Given the description of an element on the screen output the (x, y) to click on. 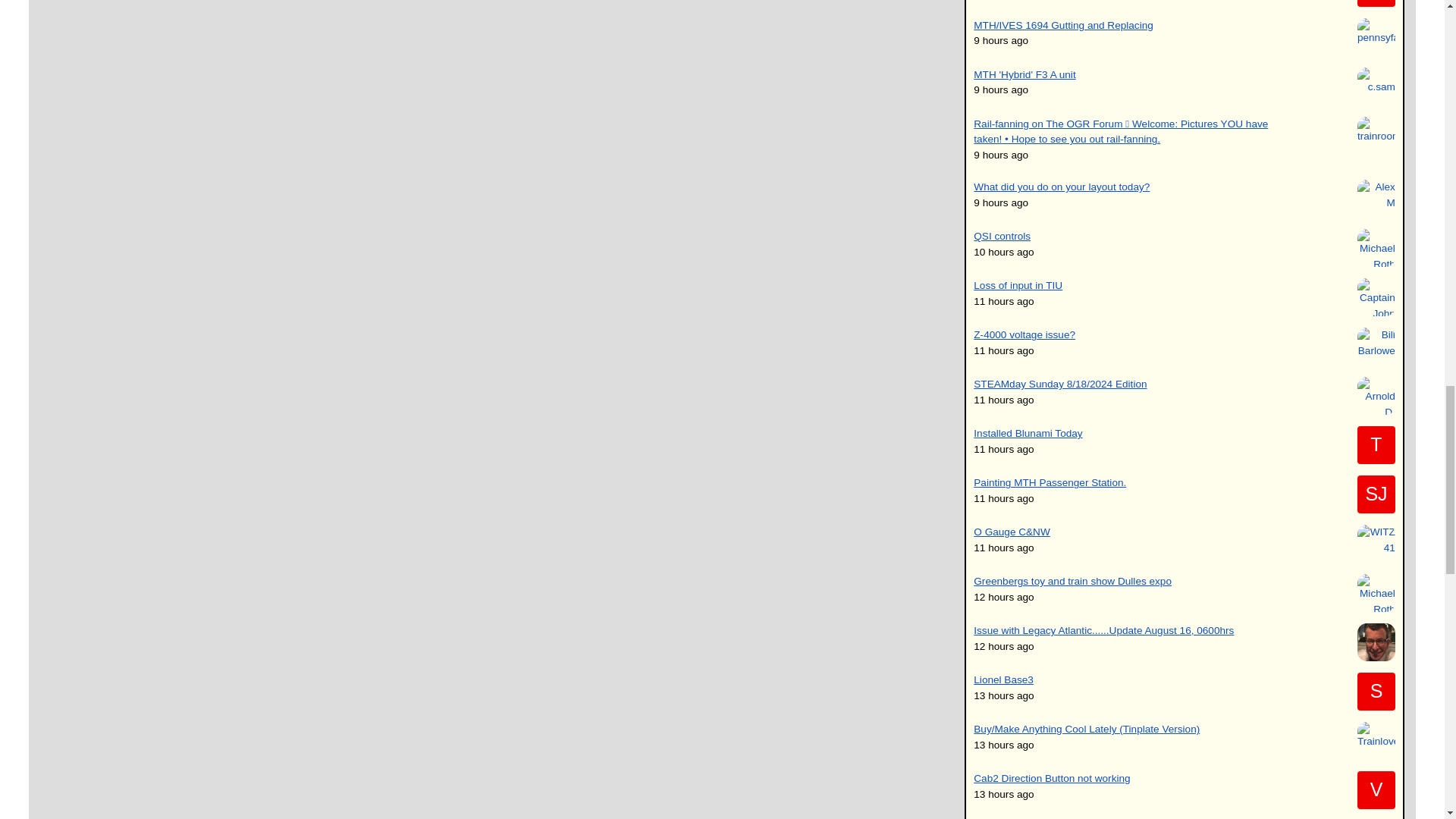
V (1375, 790)
SJ (1375, 494)
BF (1375, 3)
T (1375, 444)
S (1375, 691)
